Given the description of an element on the screen output the (x, y) to click on. 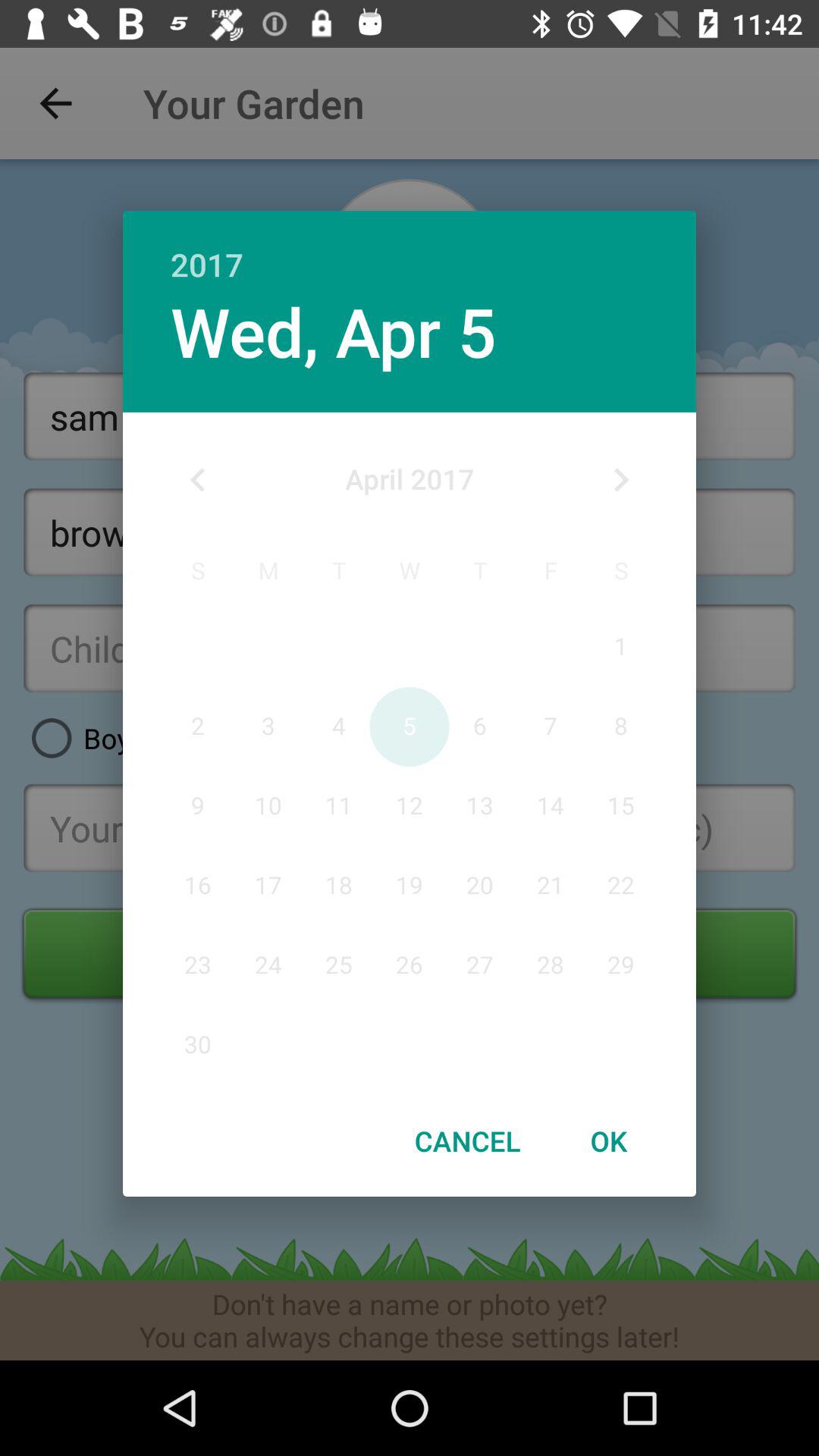
choose icon to the left of ok (467, 1140)
